Given the description of an element on the screen output the (x, y) to click on. 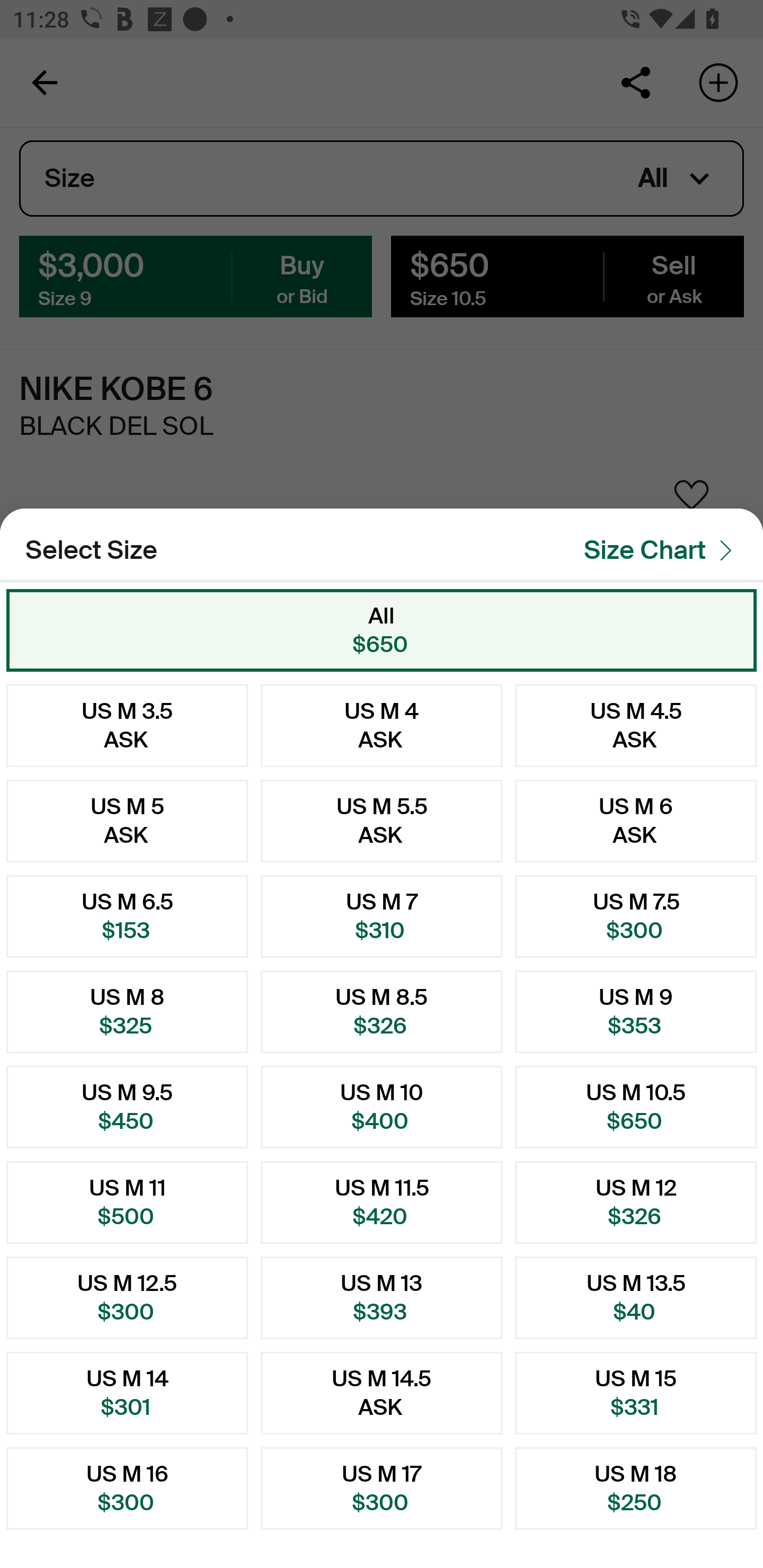
Size Chart (663, 550)
All $650 (381, 630)
US M 3.5 ASK (126, 724)
US M 4 ASK (381, 724)
US M 4.5 ASK (635, 724)
US M 5 ASK (126, 820)
US M 5.5 ASK (381, 820)
US M 6 ASK (635, 820)
US M 6.5 $153 (126, 916)
US M 7 $310 (381, 916)
US M 7.5 $300 (635, 916)
US M 8 $325 (126, 1011)
US M 8.5 $326 (381, 1011)
US M 9 $353 (635, 1011)
US M 9.5 $450 (126, 1106)
US M 10 $400 (381, 1106)
US M 10.5 $650 (635, 1106)
US M 11 $500 (126, 1202)
US M 11.5 $420 (381, 1202)
US M 12 $326 (635, 1202)
US M 12.5 $300 (126, 1297)
US M 13 $393 (381, 1297)
US M 13.5 $40 (635, 1297)
US M 14 $301 (126, 1392)
US M 14.5 ASK (381, 1392)
US M 15 $331 (635, 1392)
US M 16 $300 (126, 1488)
US M 17 $300 (381, 1488)
US M 18 $250 (635, 1488)
